Given the description of an element on the screen output the (x, y) to click on. 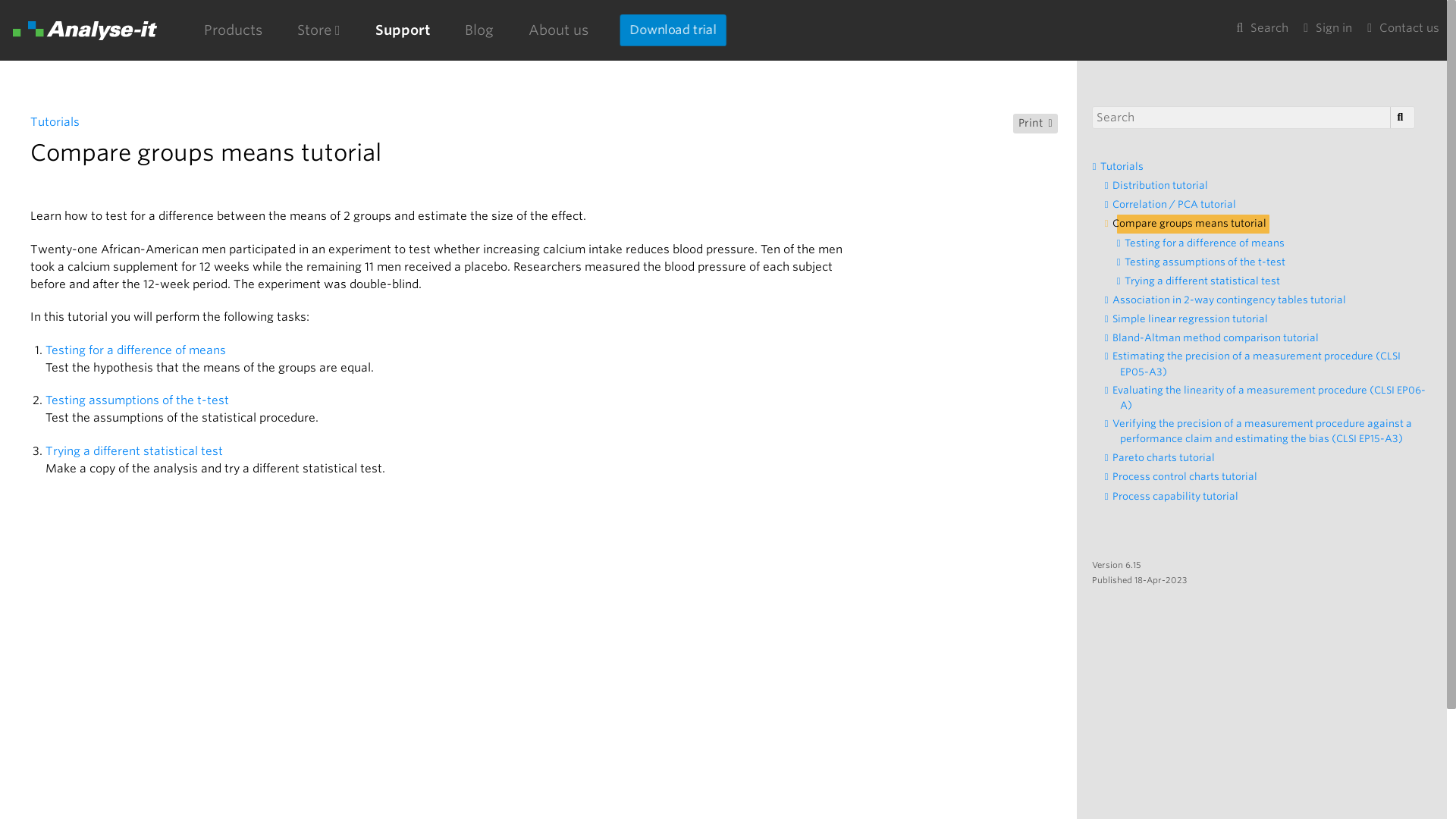
Testing for a difference of means (135, 350)
Tutorials (54, 122)
 Testing assumptions of the t-test (1208, 262)
Download trial (673, 30)
About us (558, 29)
Print   (1035, 123)
 Testing for a difference of means (1208, 243)
 Simple linear regression tutorial (1193, 319)
Sign in to your account (1327, 28)
 Pareto charts tutorial (1167, 457)
Print this page in a printer-friendly format (1035, 123)
Support (402, 29)
search (1400, 117)
Search (1261, 28)
 Association in 2-way contingency tables tutorial (1232, 300)
